Given the description of an element on the screen output the (x, y) to click on. 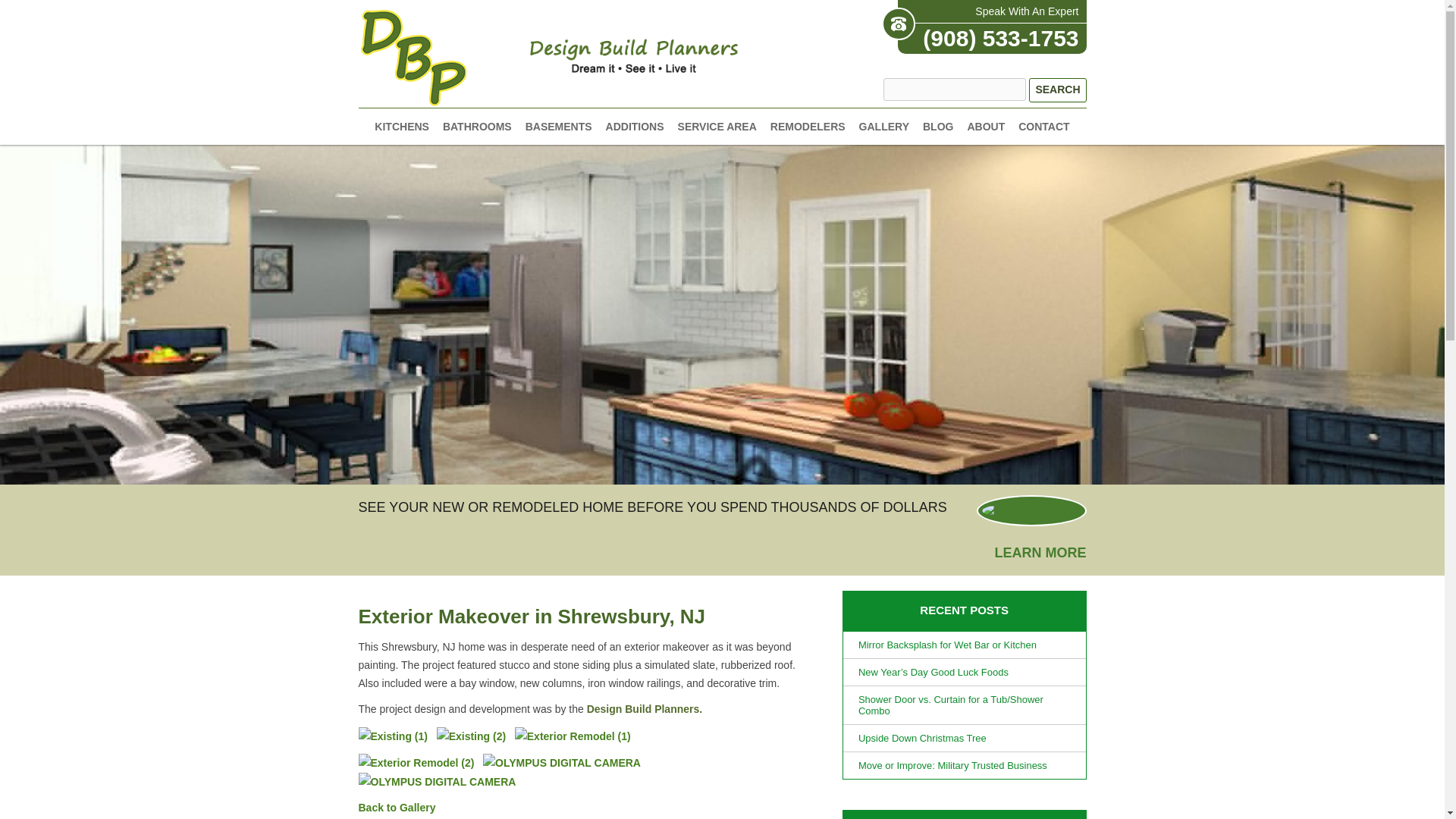
SERVICE AREA (717, 126)
GALLERY (883, 126)
Search (1057, 89)
BASEMENTS (558, 126)
ABOUT (985, 126)
Gallery of Design Build Remodeling Projects (396, 807)
CONTACT (1042, 126)
KITCHENS (401, 126)
BATHROOMS (477, 126)
REMODELERS (807, 126)
